Given the description of an element on the screen output the (x, y) to click on. 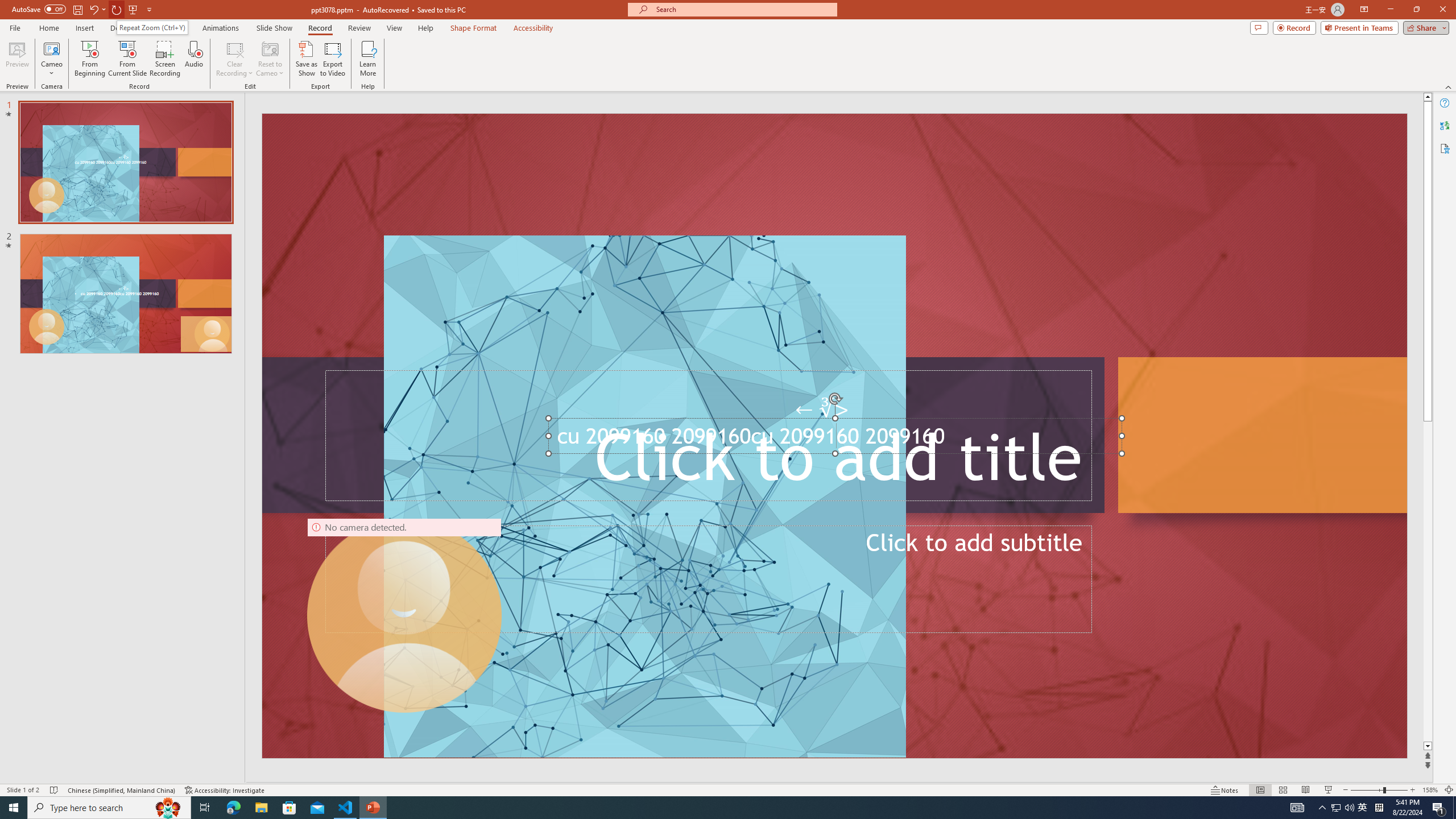
Camera 9, No camera detected. (404, 615)
From Beginning... (89, 58)
Clear Recording (234, 58)
